Given the description of an element on the screen output the (x, y) to click on. 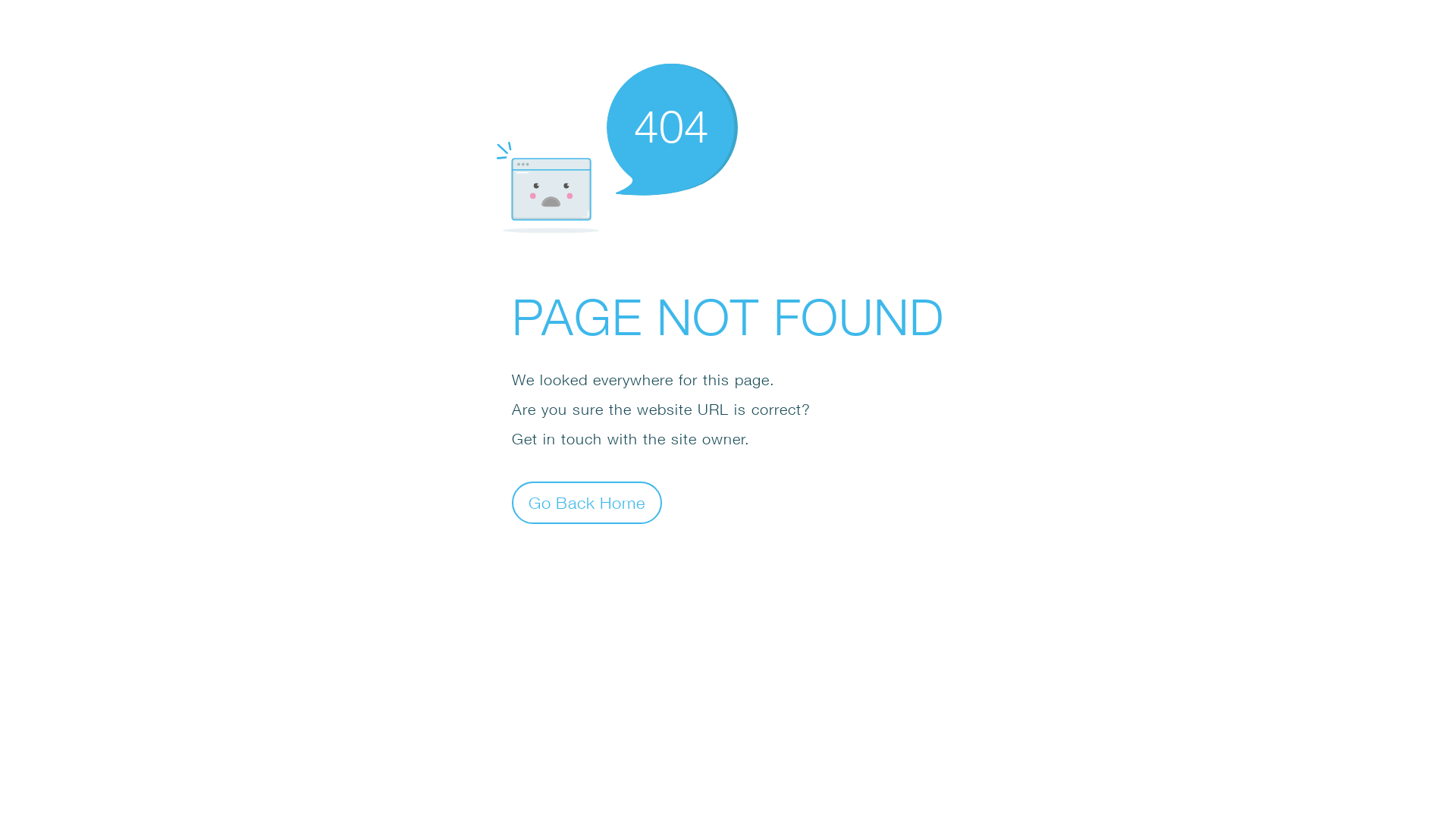
Go Back Home Element type: text (586, 502)
